Given the description of an element on the screen output the (x, y) to click on. 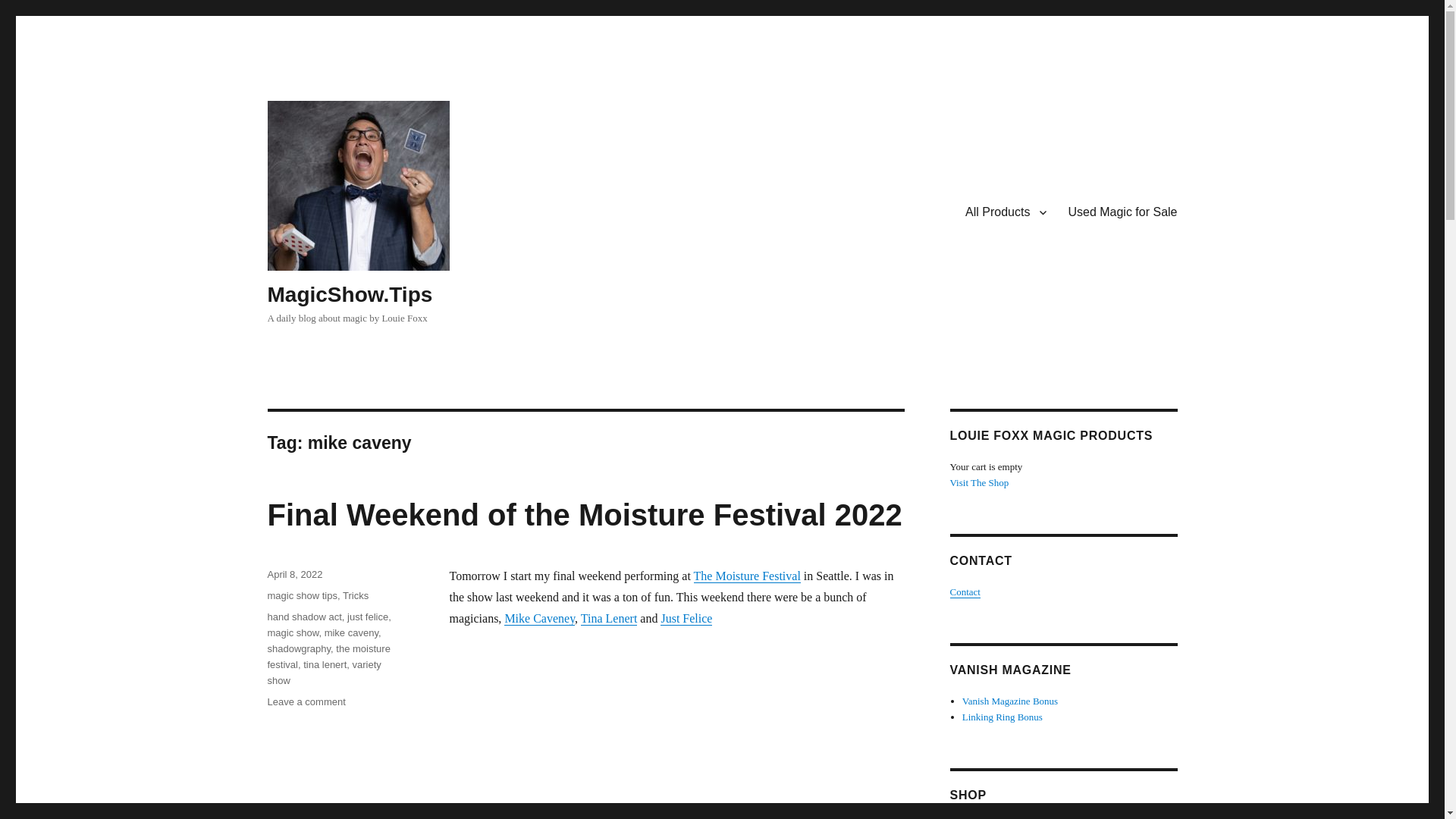
Just Felice (686, 617)
April 8, 2022 (293, 573)
magic show (292, 632)
The Moisture Festival (747, 575)
MagicShow.Tips (349, 294)
All Products (1006, 212)
Tina Lenert (608, 617)
magic show tips (301, 595)
Tricks (355, 595)
Final Weekend of the Moisture Festival 2022 (583, 514)
Mike Caveney (539, 617)
Used Magic for Sale (1122, 212)
just felice (367, 616)
hand shadow act (303, 616)
